Given the description of an element on the screen output the (x, y) to click on. 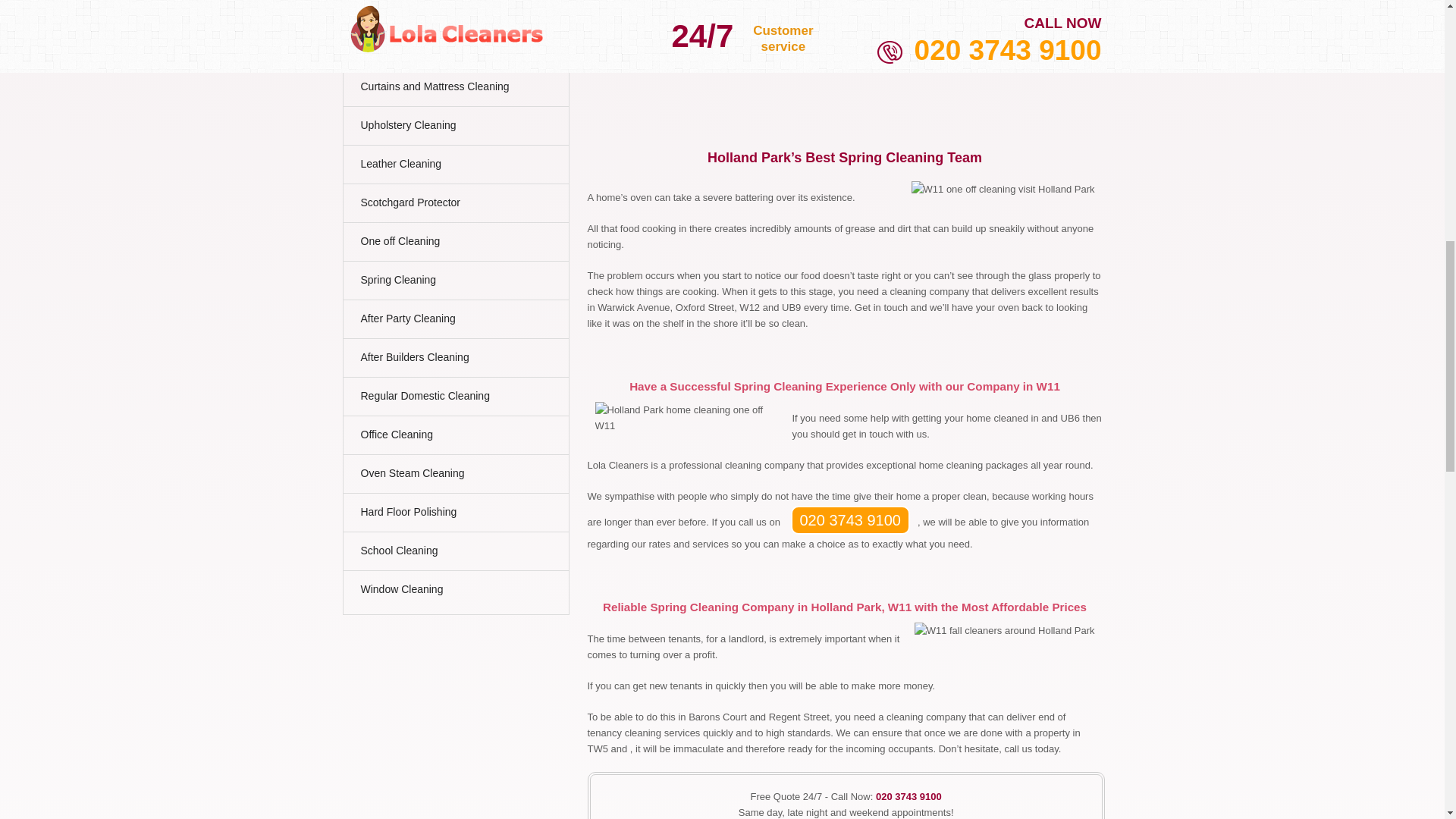
School Cleaning (451, 554)
Leather Cleaning (451, 167)
Window Cleaning (451, 592)
Upholstery Cleaning (451, 129)
Regular Domestic Cleaning (451, 399)
Warwick Avenue (957, 11)
Barons Court (821, 11)
Scotchgard Protector (451, 206)
Spring Cleaning (451, 283)
Curtains and Mattress Cleaning (451, 90)
